Given the description of an element on the screen output the (x, y) to click on. 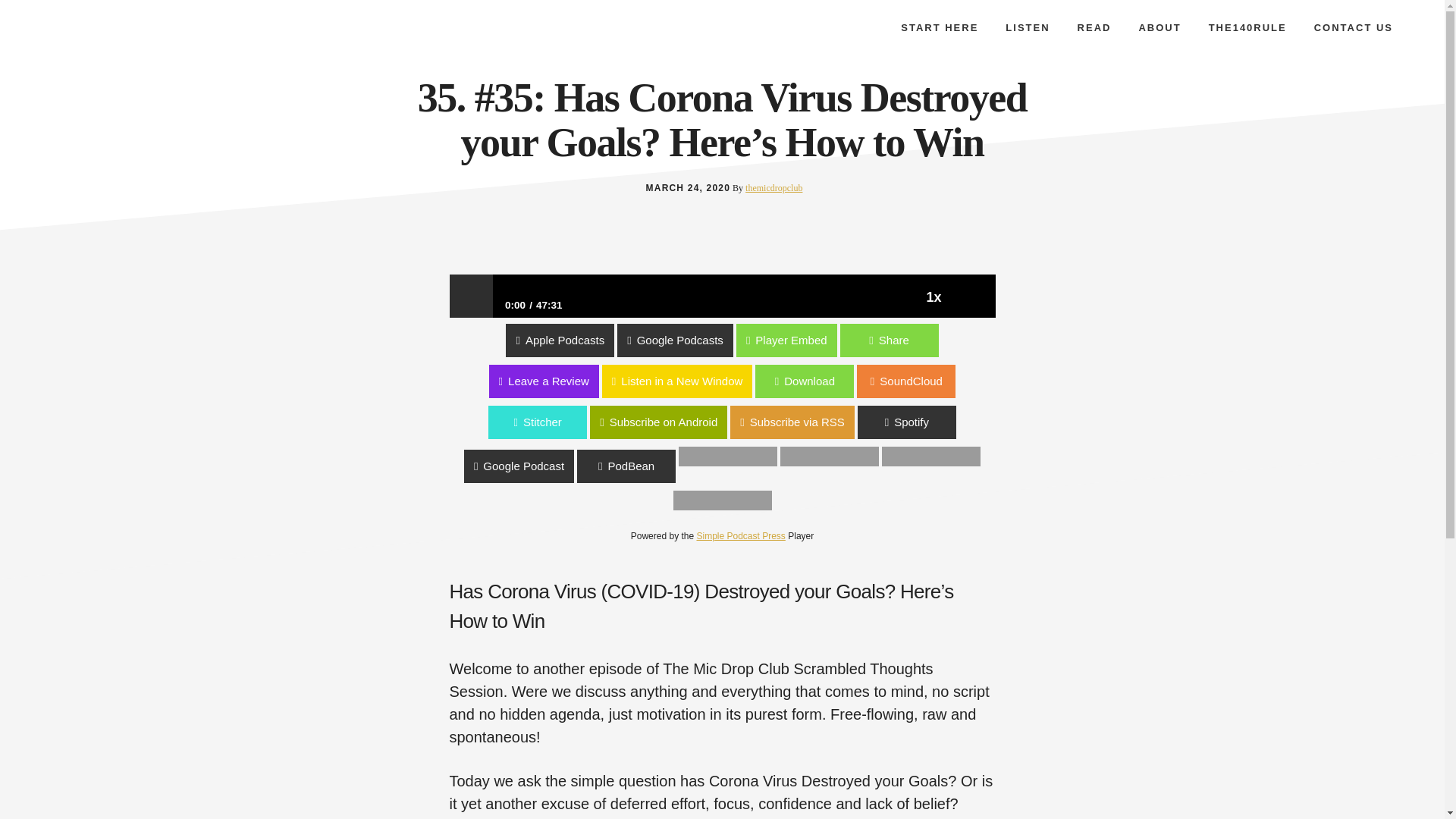
THE140RULE (1247, 27)
START HERE (938, 27)
Simple Podcast Press (739, 535)
THE MIC DROP CLUB (150, 37)
Download (49, 381)
CONTACT US (1353, 27)
LISTEN (1026, 27)
Apple Podcasts (53, 340)
ABOUT (1158, 27)
Listen in a New Window (75, 381)
READ (1094, 27)
PodBean (778, 462)
themicdropclub (773, 187)
Google Podcast (670, 462)
